Given the description of an element on the screen output the (x, y) to click on. 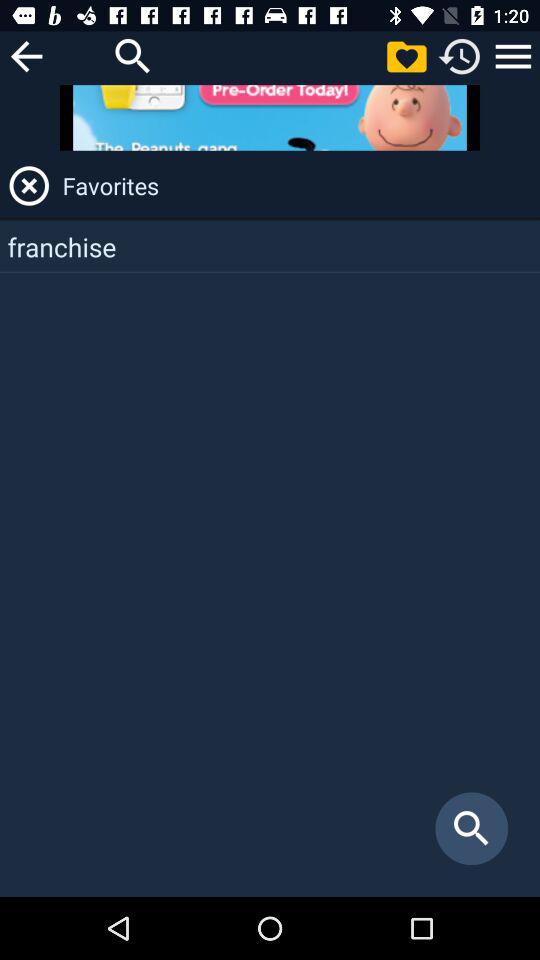
previous screen (26, 56)
